Given the description of an element on the screen output the (x, y) to click on. 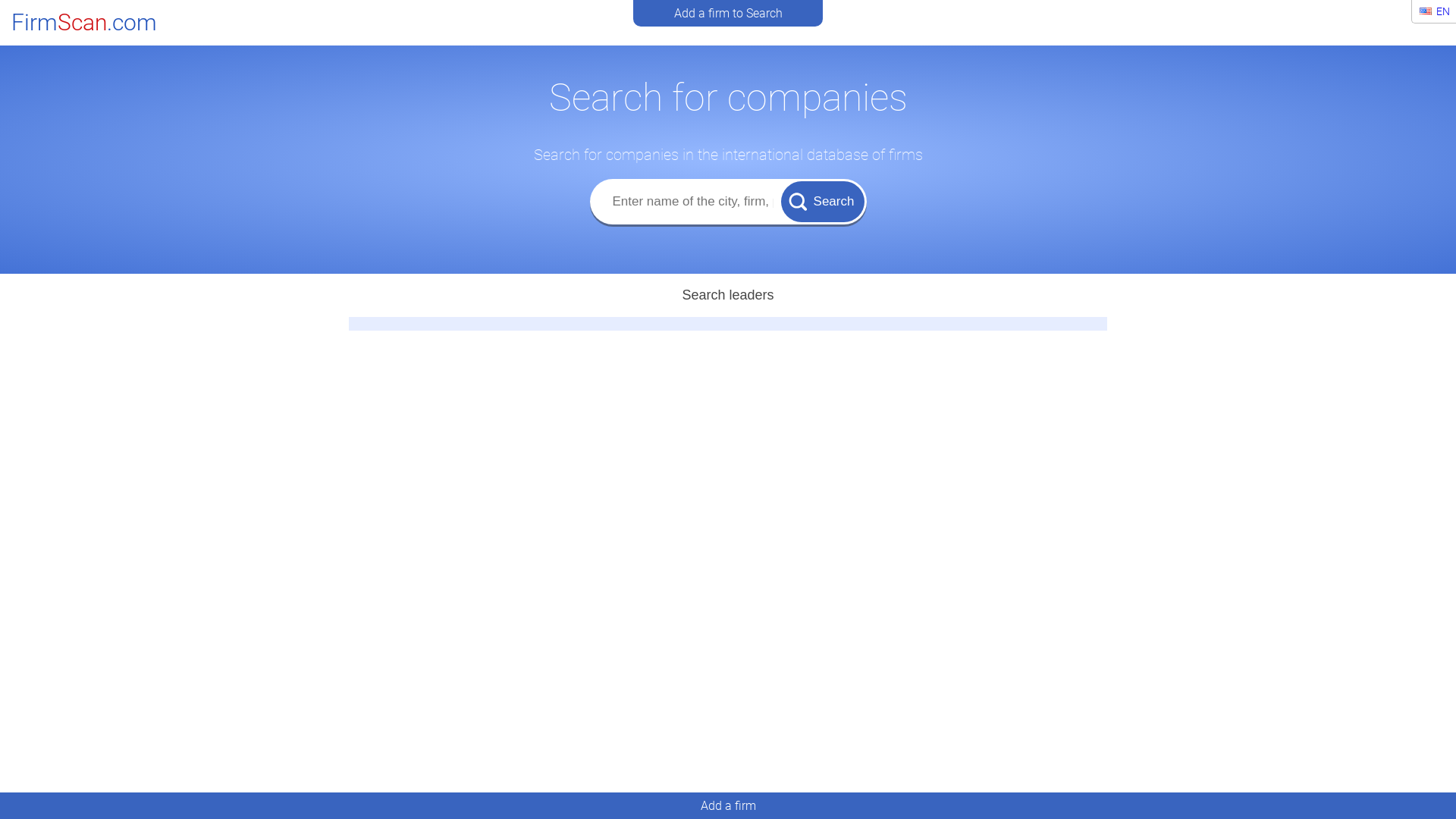
Search Element type: text (822, 200)
EN Element type: text (1434, 11)
